Given the description of an element on the screen output the (x, y) to click on. 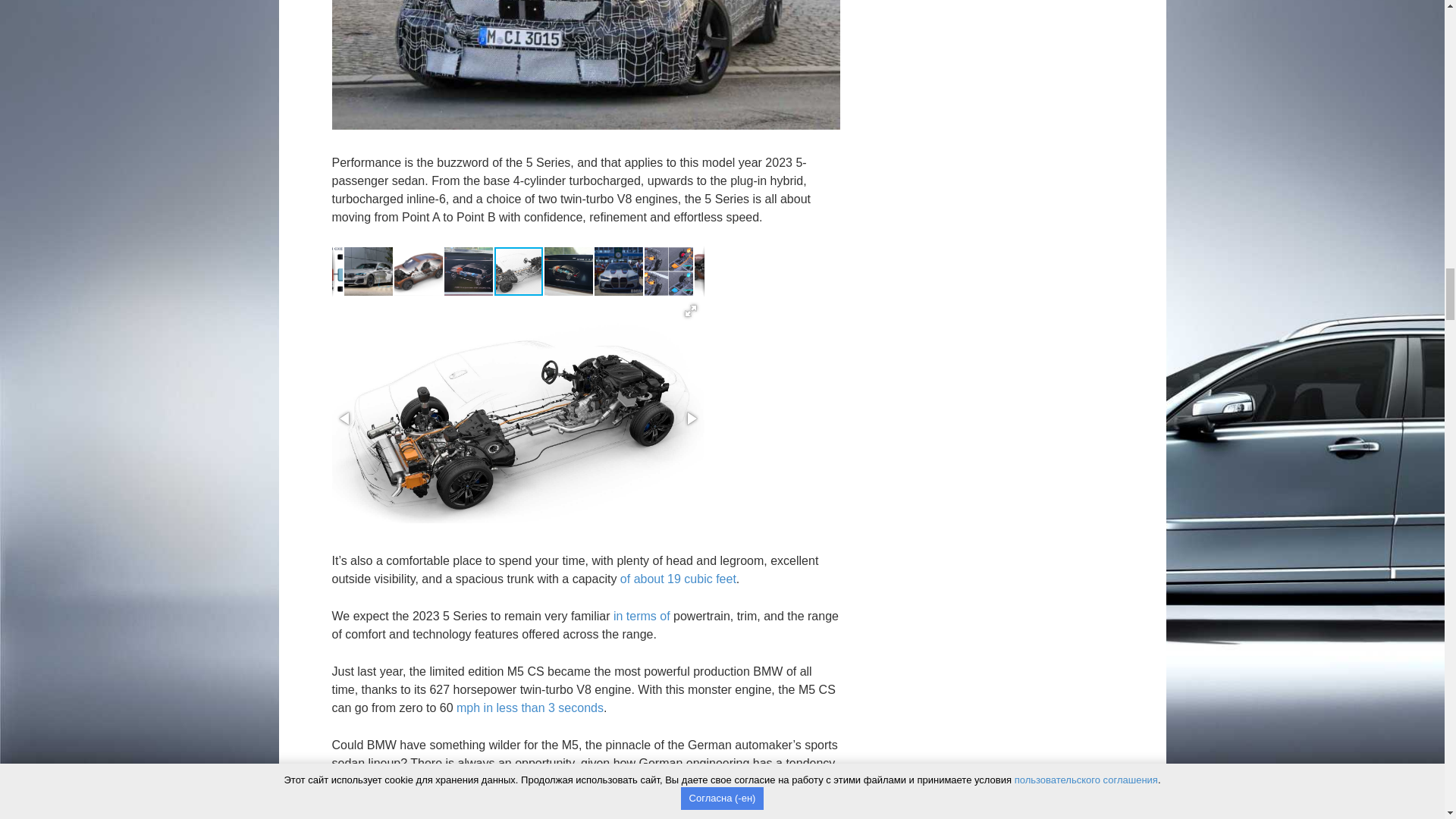
in terms of (640, 615)
of about 19 cubic feet (678, 578)
mph in less than 3 seconds (530, 707)
